Given the description of an element on the screen output the (x, y) to click on. 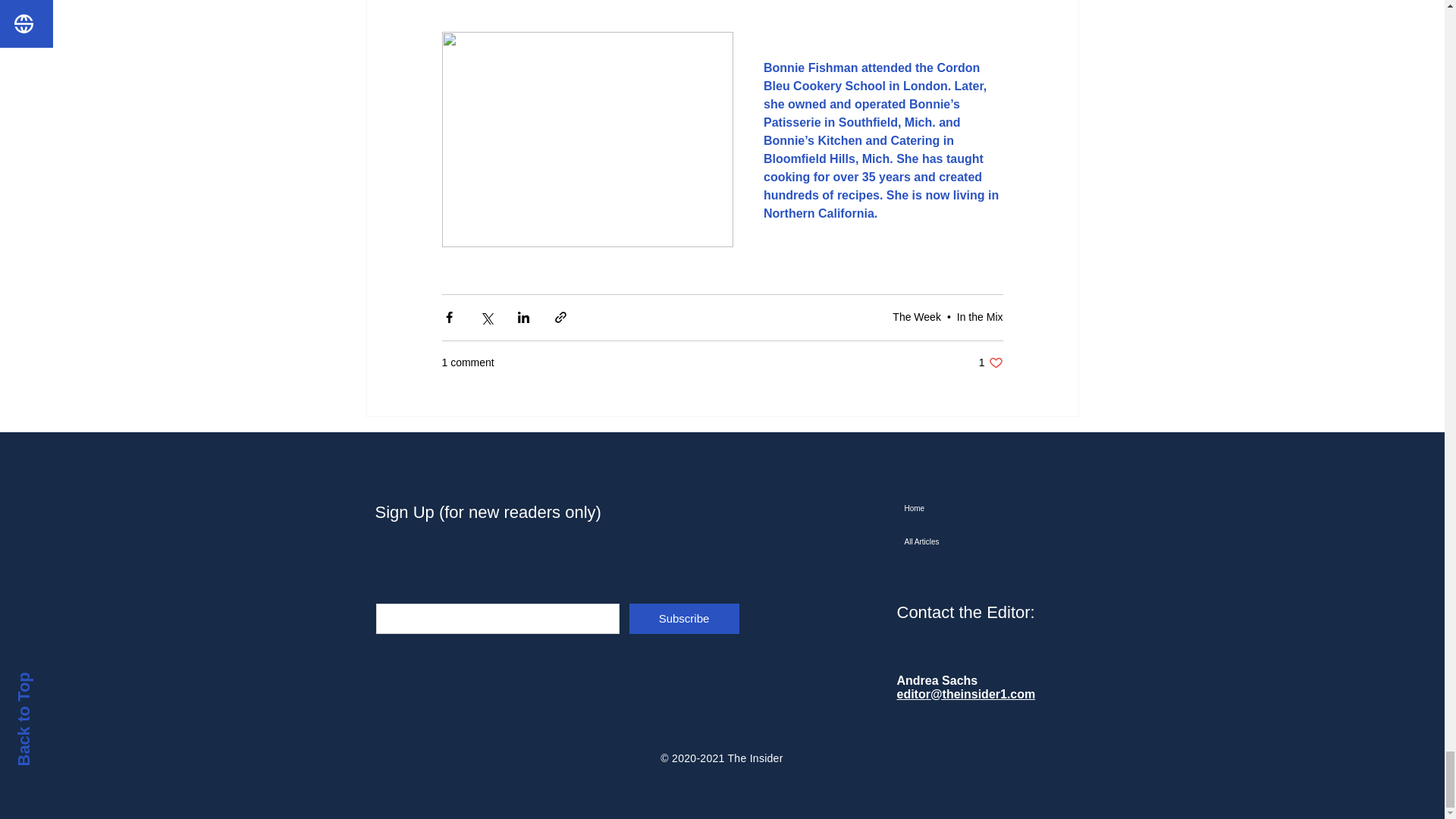
All Articles (980, 541)
Subscribe (683, 618)
Home (980, 508)
The Week (990, 362)
In the Mix (916, 316)
